Given the description of an element on the screen output the (x, y) to click on. 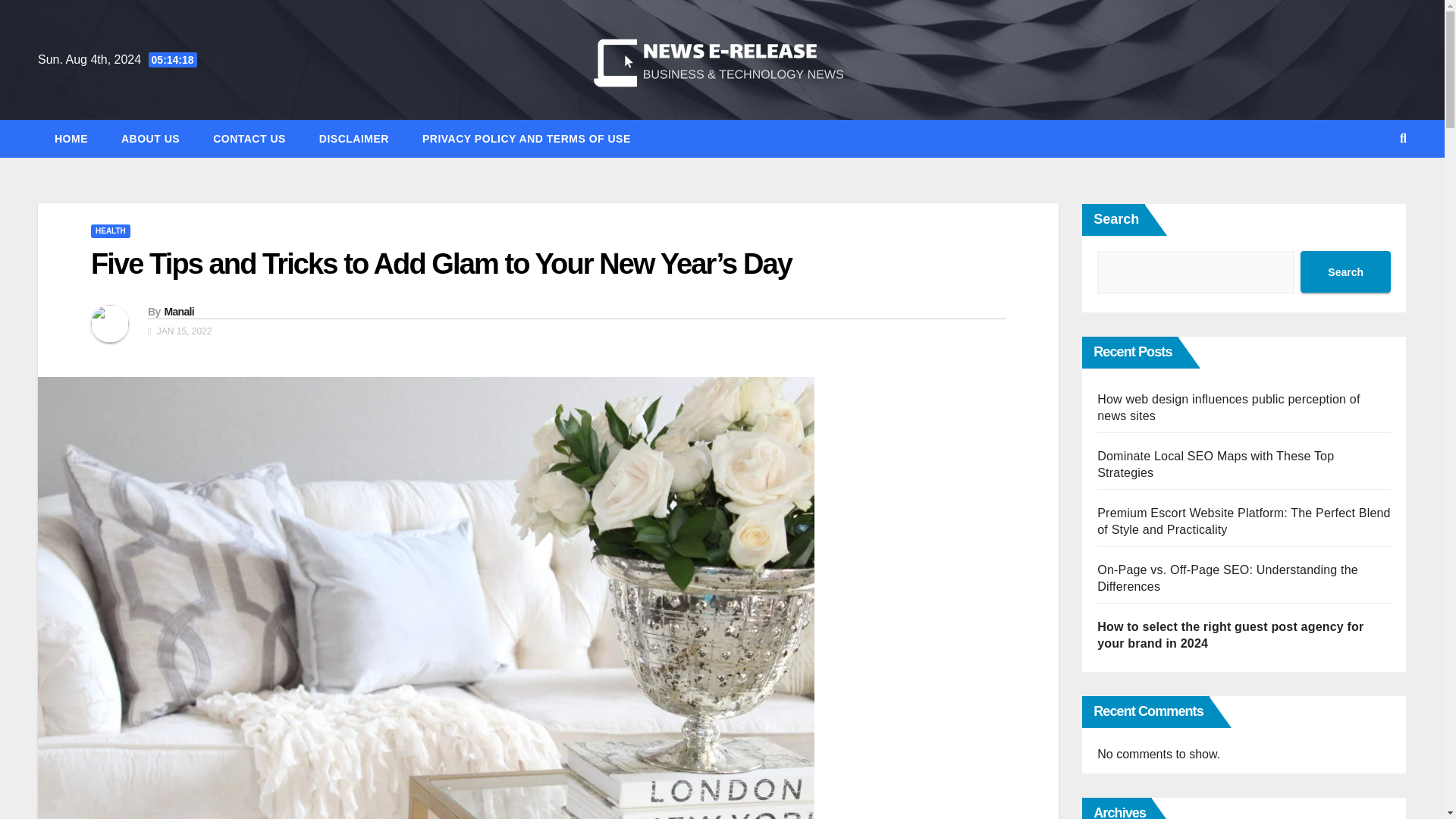
HEALTH (110, 231)
CONTACT US (249, 138)
DISCLAIMER (354, 138)
Search (1345, 271)
PRIVACY POLICY AND TERMS OF USE (526, 138)
HOME (70, 138)
ABOUT US (150, 138)
Home (70, 138)
Manali (178, 311)
